Given the description of an element on the screen output the (x, y) to click on. 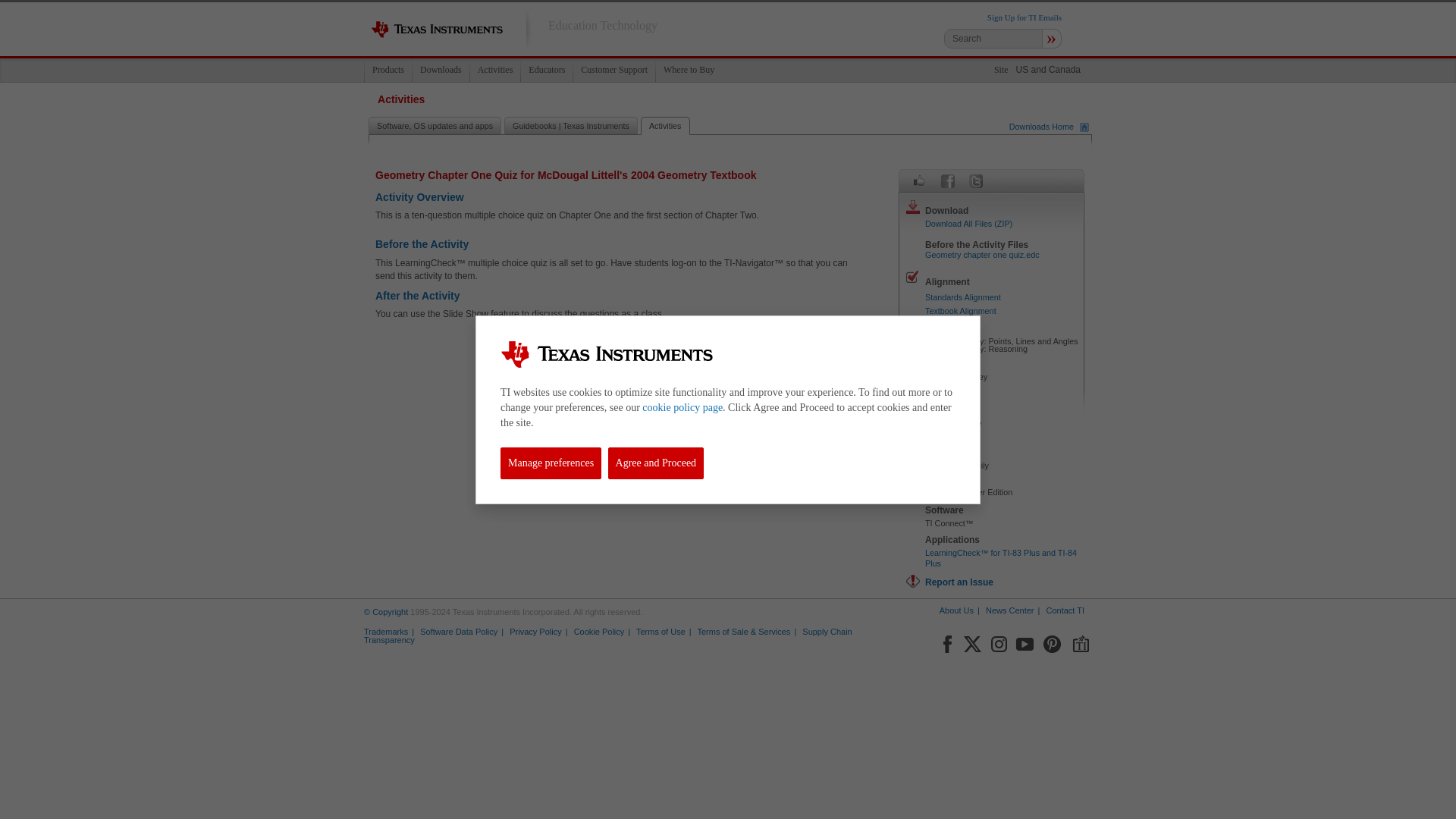
Activities (494, 69)
Pinterest (1052, 640)
Twitter (975, 180)
Instagram (998, 640)
Twitter (972, 640)
Facebook (947, 180)
Educators (545, 69)
Facebook (946, 640)
Recommend Activity (919, 180)
Sign Up for TI Emails (1024, 17)
Downloads (440, 69)
YouTube (1025, 640)
Products (388, 69)
